Given the description of an element on the screen output the (x, y) to click on. 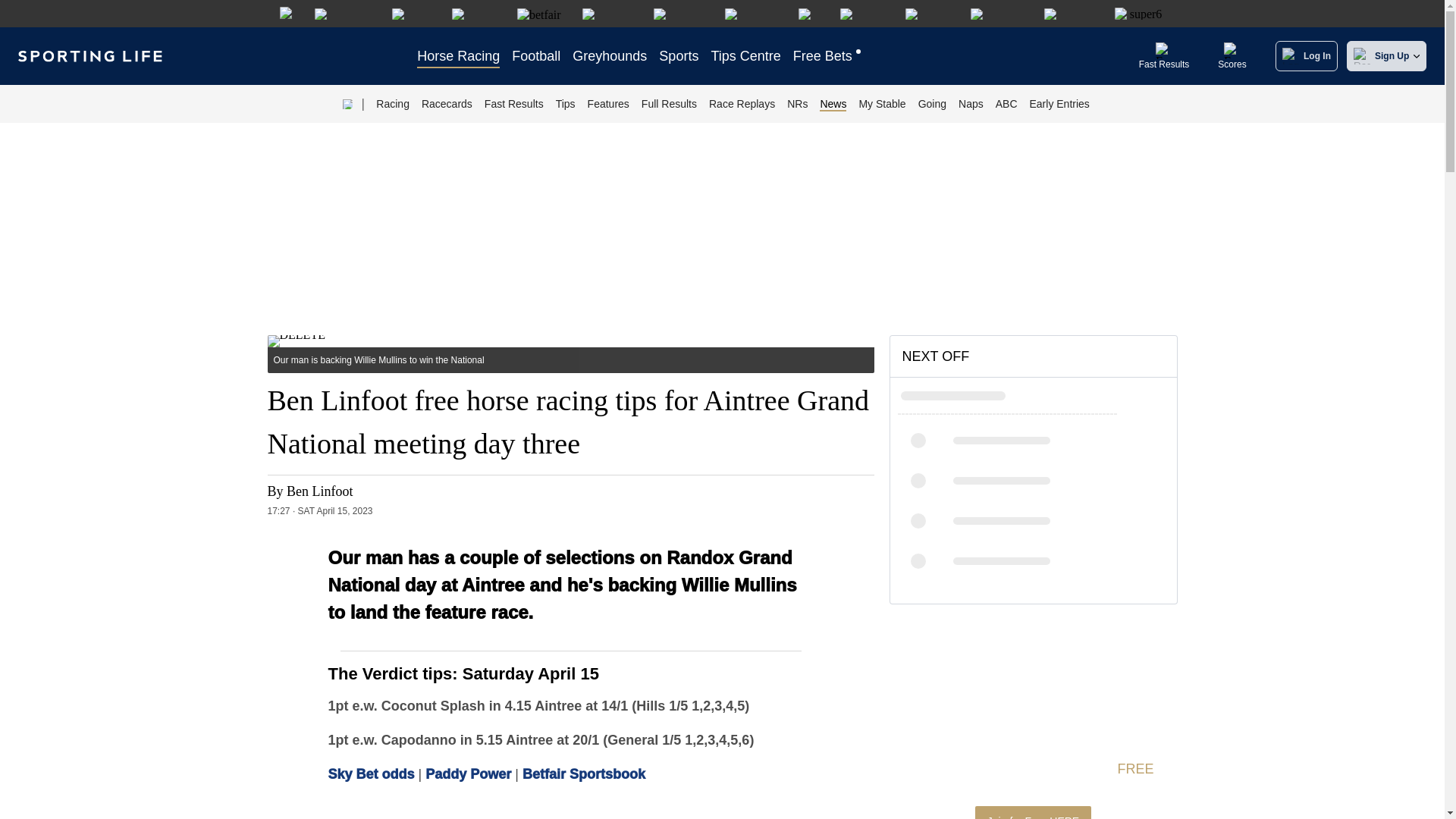
Greyhounds (609, 56)
Early Entries (1059, 104)
News (832, 104)
Fast Results (1164, 50)
Log In (1302, 56)
Racing (392, 104)
Free Bets (828, 56)
Racecards (446, 104)
Full Results (669, 104)
Horse Racing (457, 56)
